Given the description of an element on the screen output the (x, y) to click on. 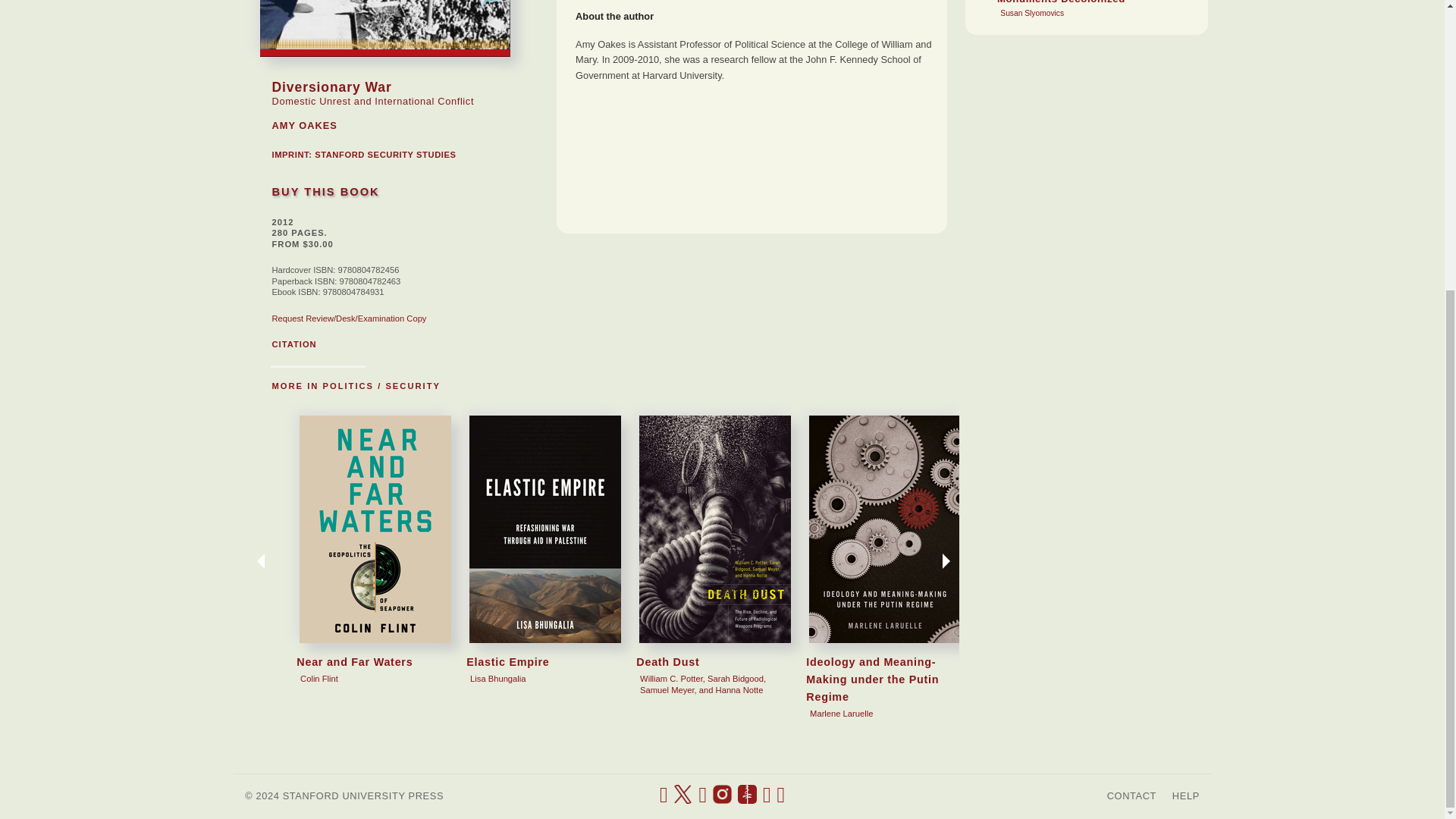
STANFORD SECURITY STUDIES (384, 153)
BUY THIS BOOK (324, 191)
CITATION (292, 343)
